Given the description of an element on the screen output the (x, y) to click on. 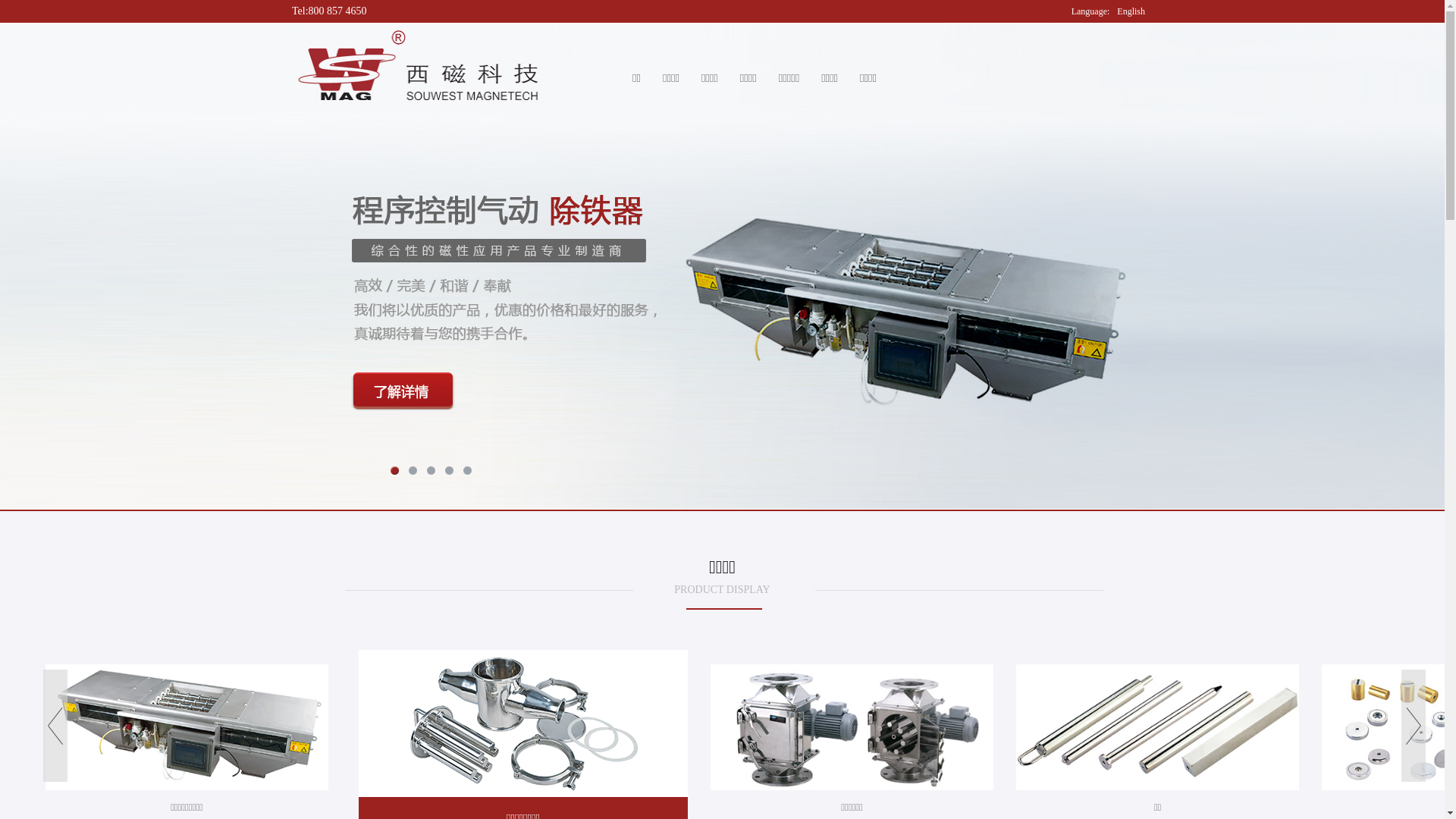
English Element type: text (1131, 11)
Language: Element type: text (1090, 11)
5 Element type: text (466, 470)
1 Element type: text (393, 470)
2 Element type: text (412, 470)
4 Element type: text (448, 470)
3 Element type: text (430, 470)
